Given the description of an element on the screen output the (x, y) to click on. 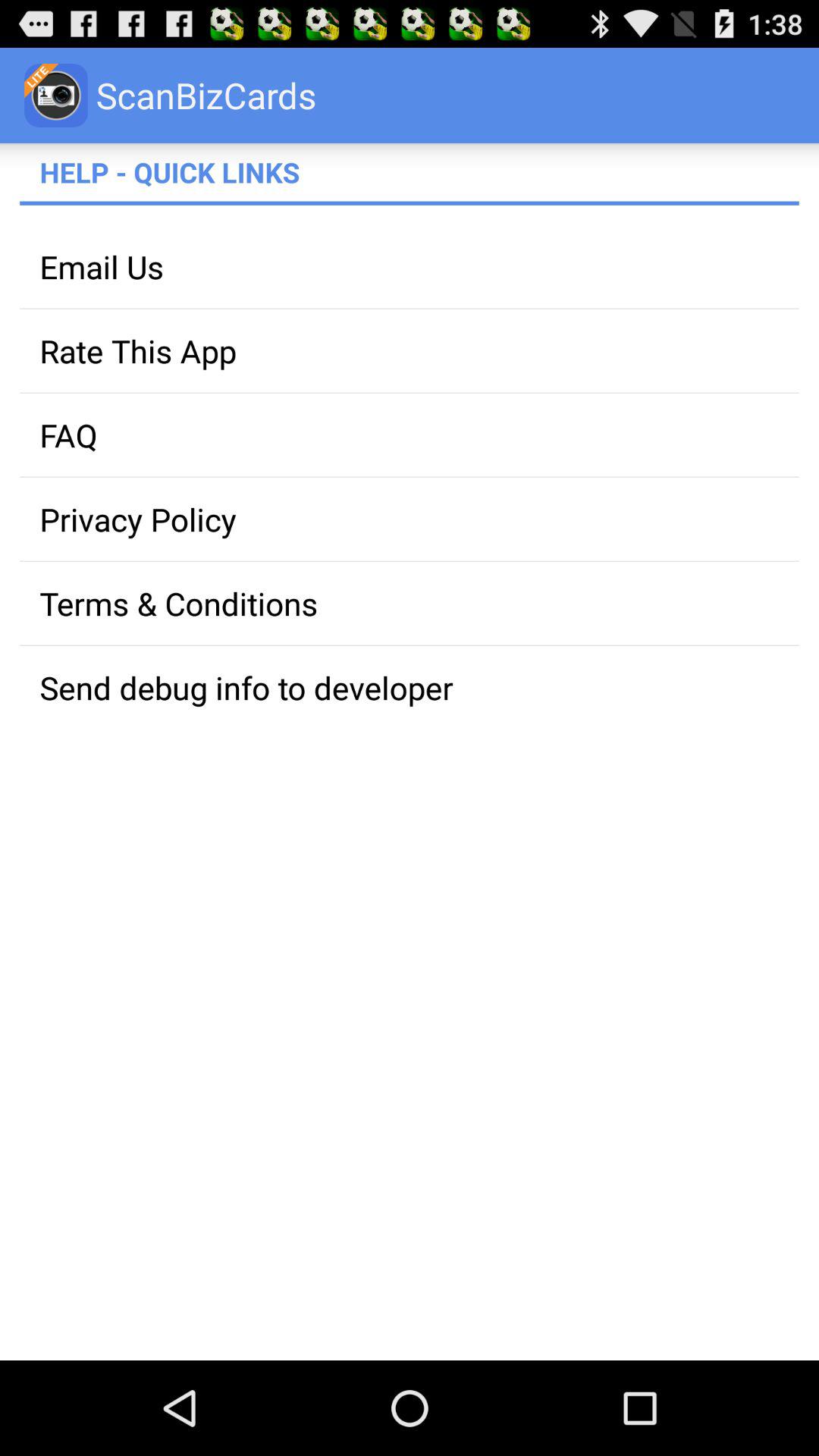
scroll to privacy policy (409, 518)
